Given the description of an element on the screen output the (x, y) to click on. 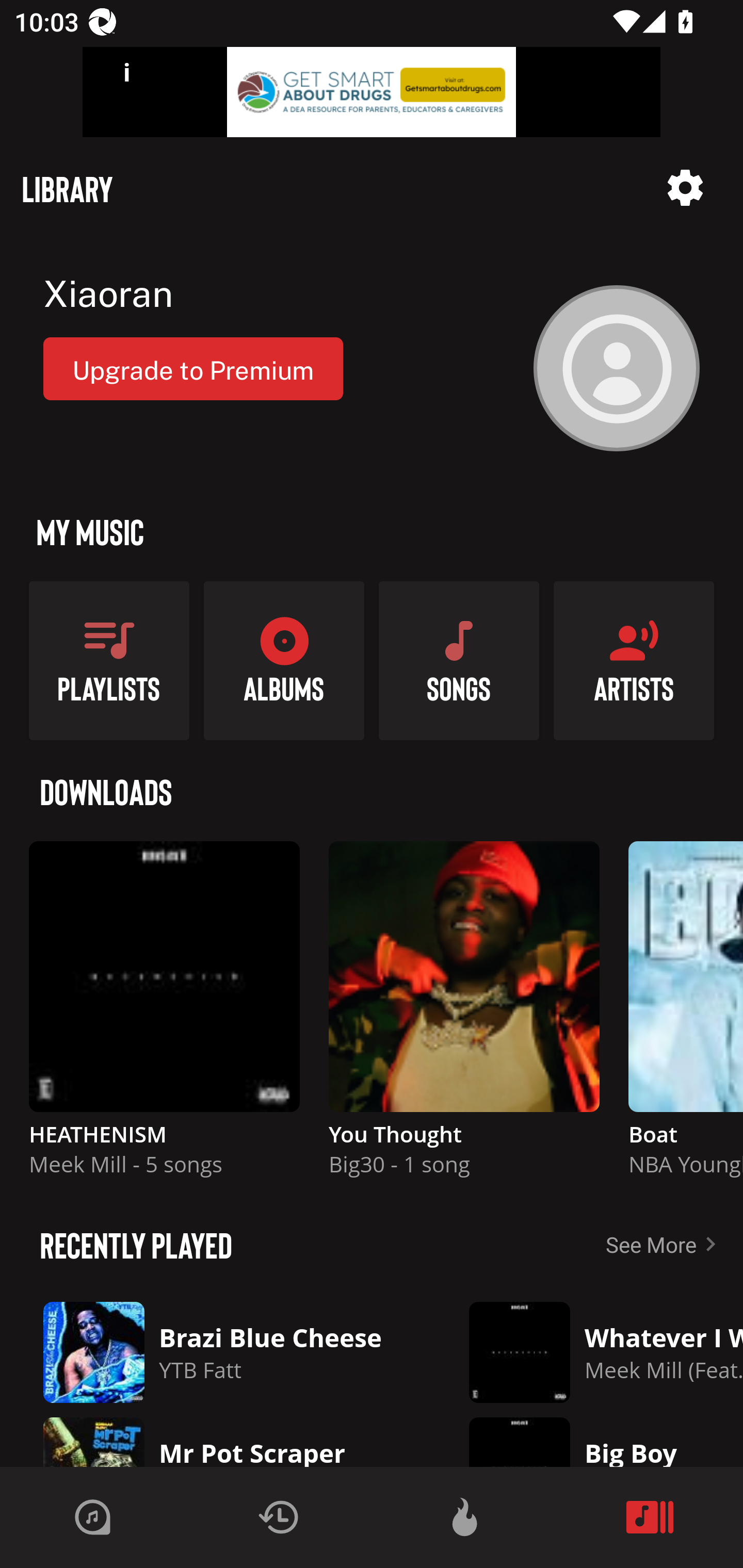
Description (684, 188)
Upgrade to Premium (193, 368)
Playlists (108, 660)
Albums (283, 660)
Songs (458, 660)
Artists (633, 660)
Description HEATHENISM Meek Mill - 5 songs (164, 1017)
Description You Thought Big30 - 1 song (463, 1017)
See More (664, 1244)
Description Brazi Blue Cheese YTB Fatt (219, 1352)
Description Mr Pot Scraper (219, 1438)
Description Big Boy (591, 1438)
